Given the description of an element on the screen output the (x, y) to click on. 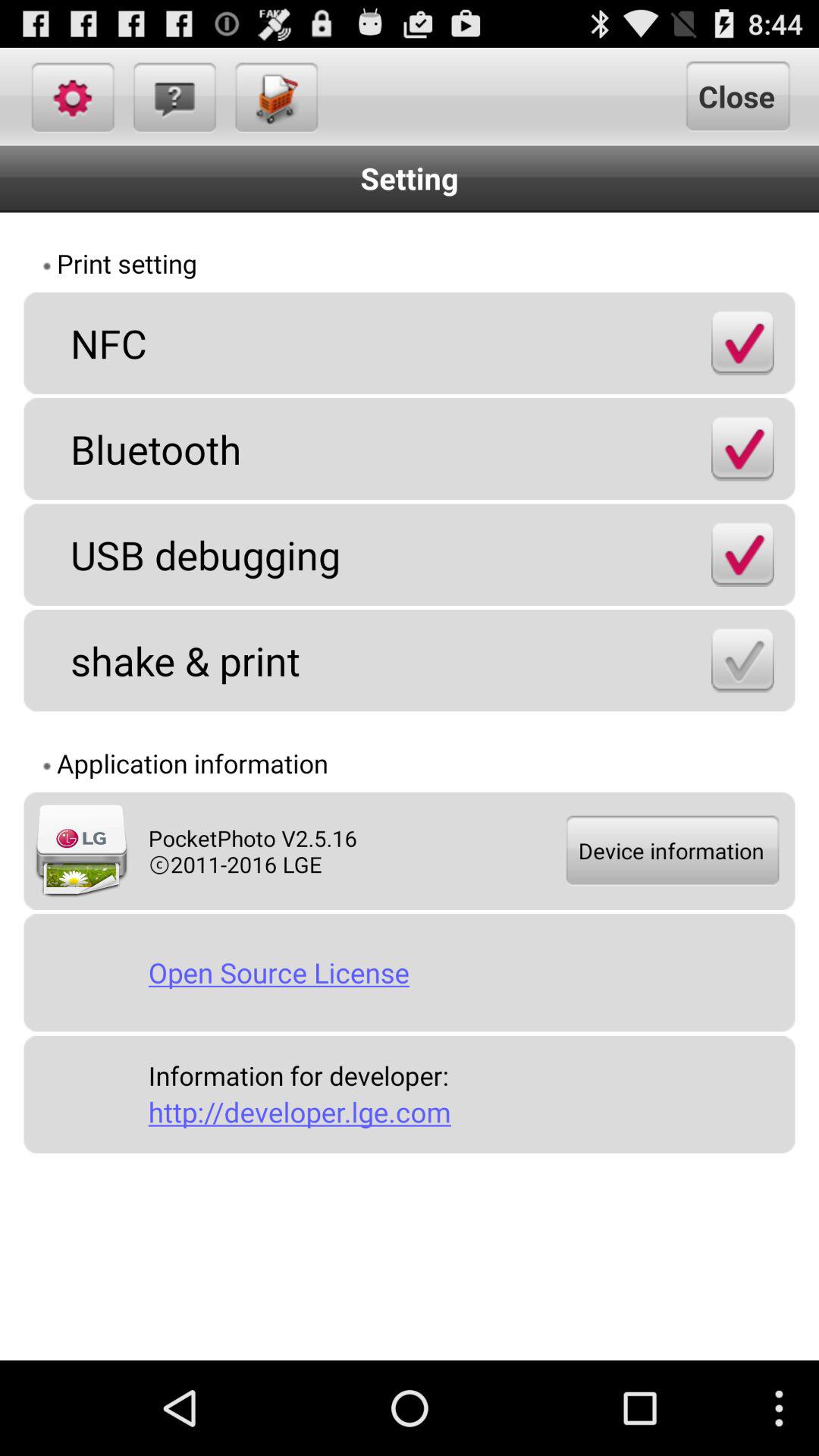
open item below information for developer: icon (466, 1111)
